Given the description of an element on the screen output the (x, y) to click on. 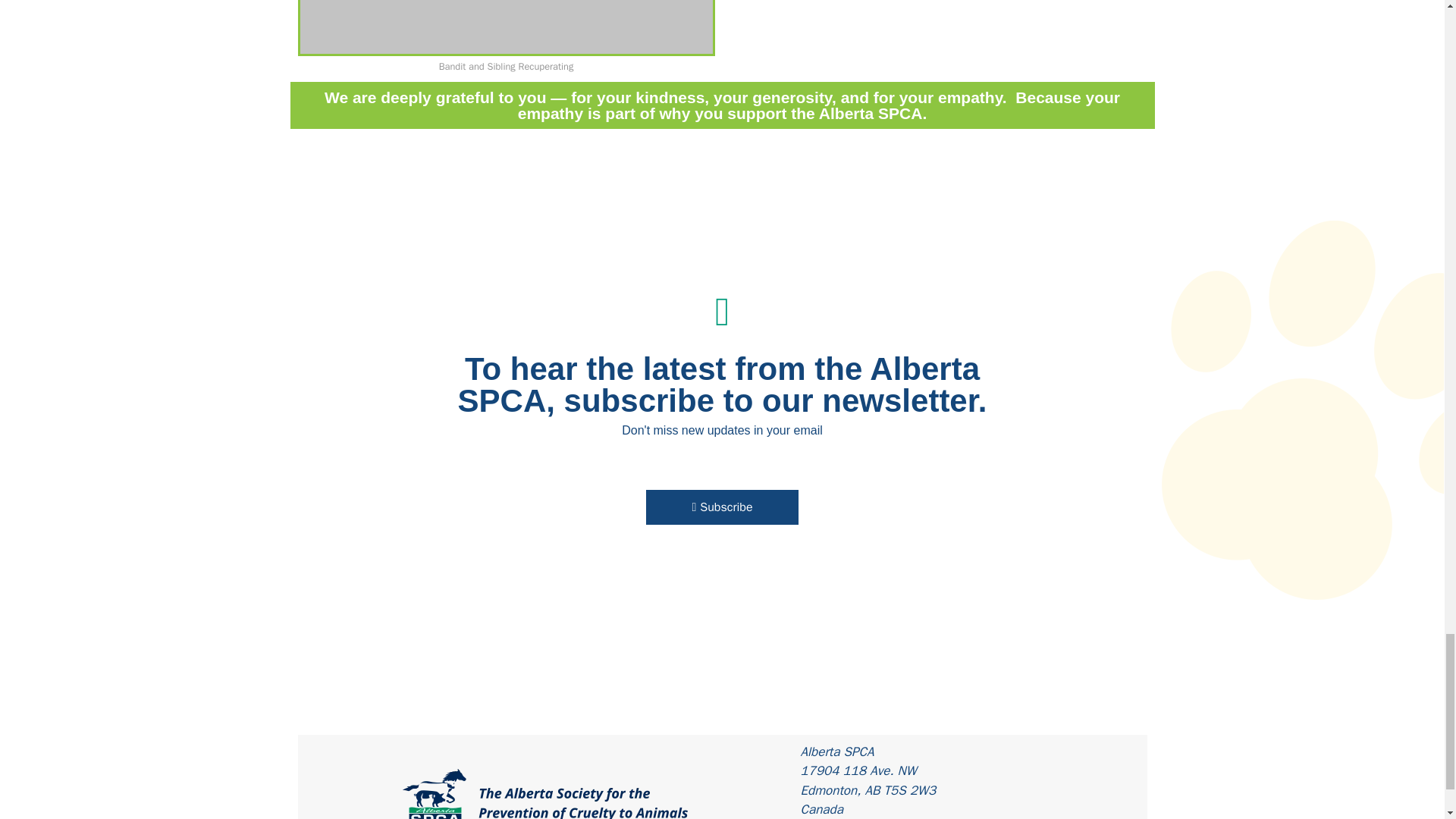
Subscribe (721, 506)
